Given the description of an element on the screen output the (x, y) to click on. 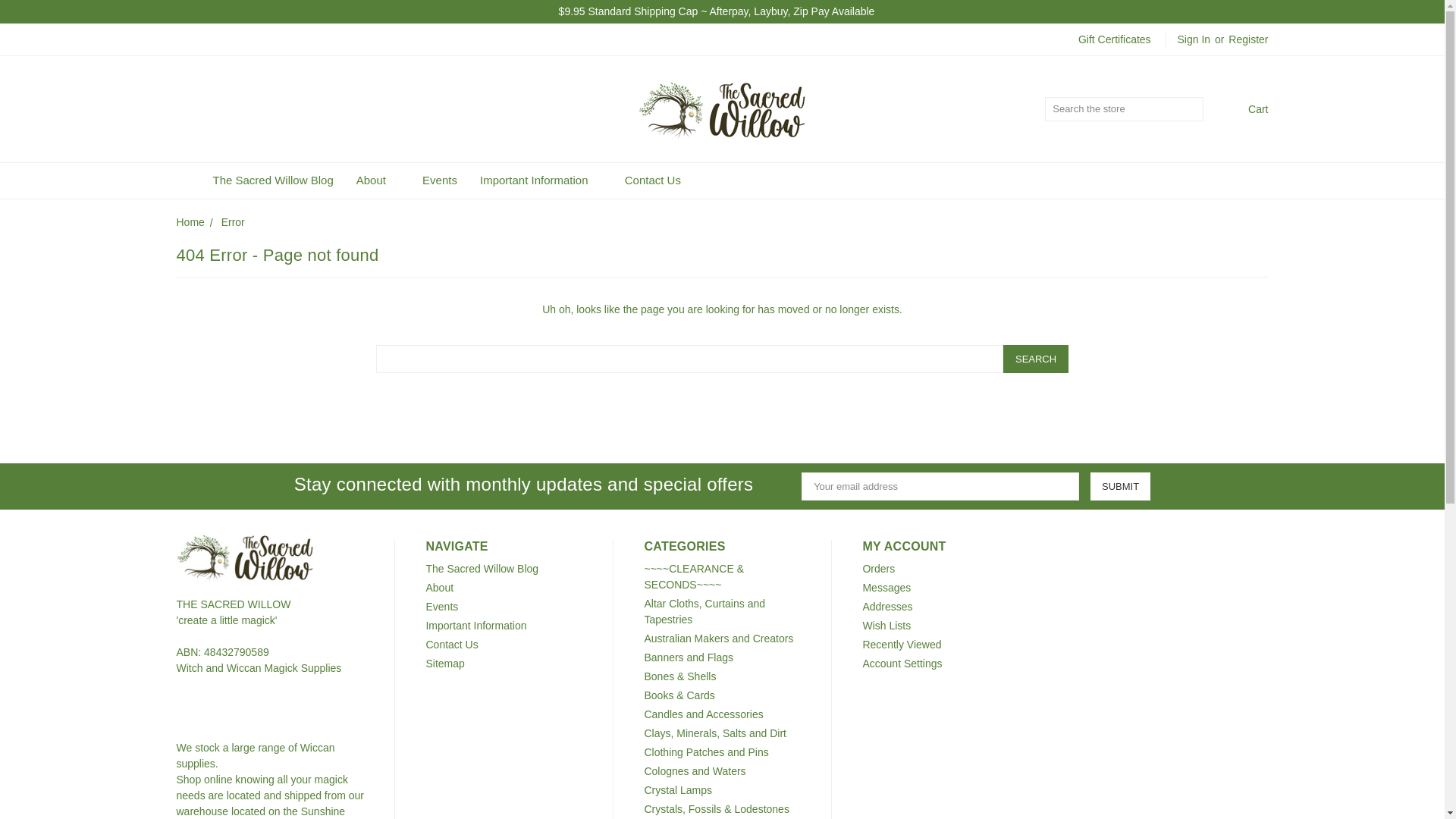
Search (1192, 109)
Search (1035, 358)
Submit (1120, 486)
Search (1192, 109)
